Given the description of an element on the screen output the (x, y) to click on. 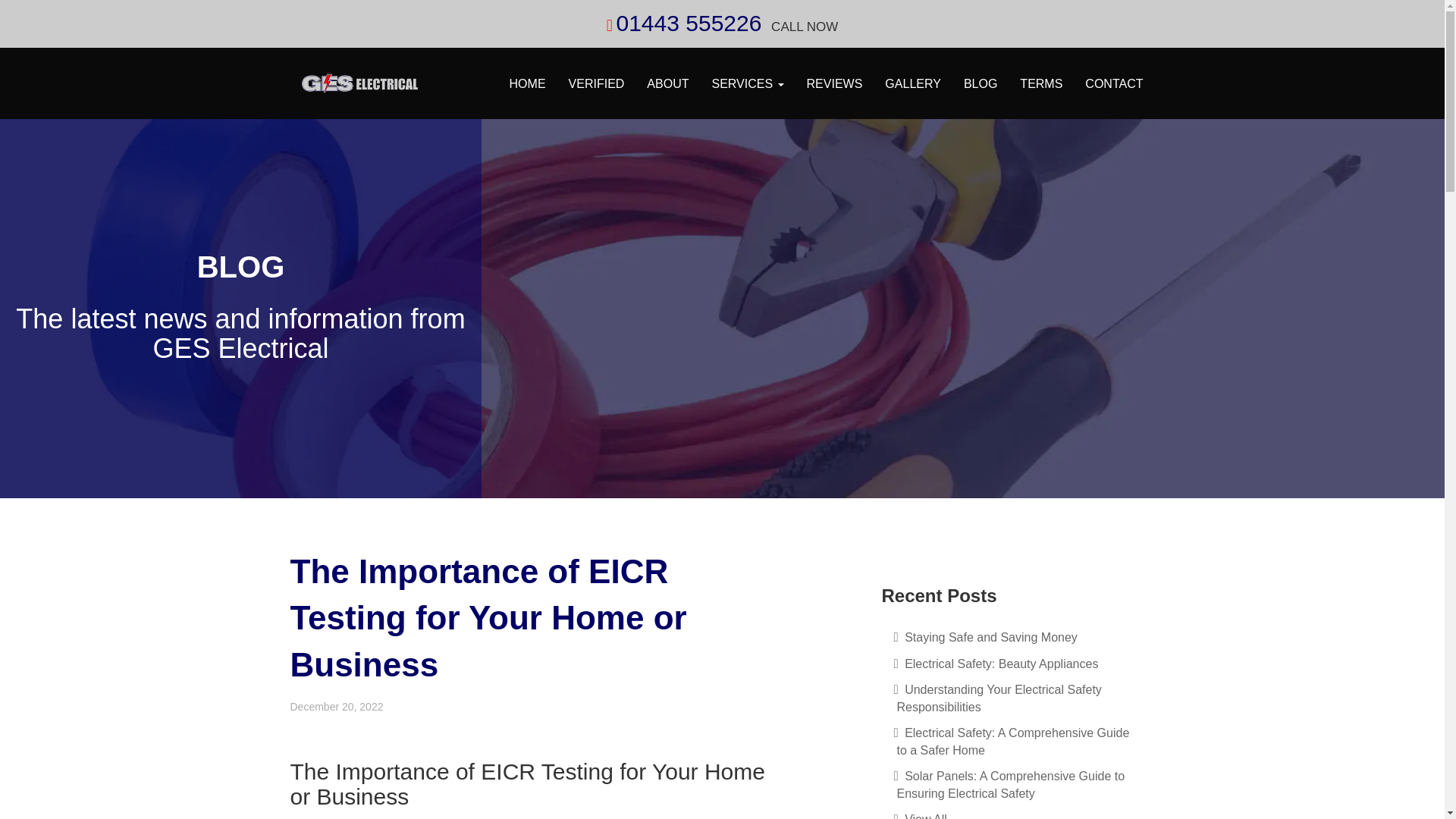
Understanding Your Electrical Safety Responsibilities (1017, 698)
01443 555226 (688, 23)
Electrical Safety: A Comprehensive Guide to a Safer Home (1017, 741)
REVIEWS (834, 84)
SERVICES (747, 84)
BLOG (980, 84)
Staying Safe and Saving Money (1017, 637)
ABOUT (667, 84)
View All (1017, 814)
